Given the description of an element on the screen output the (x, y) to click on. 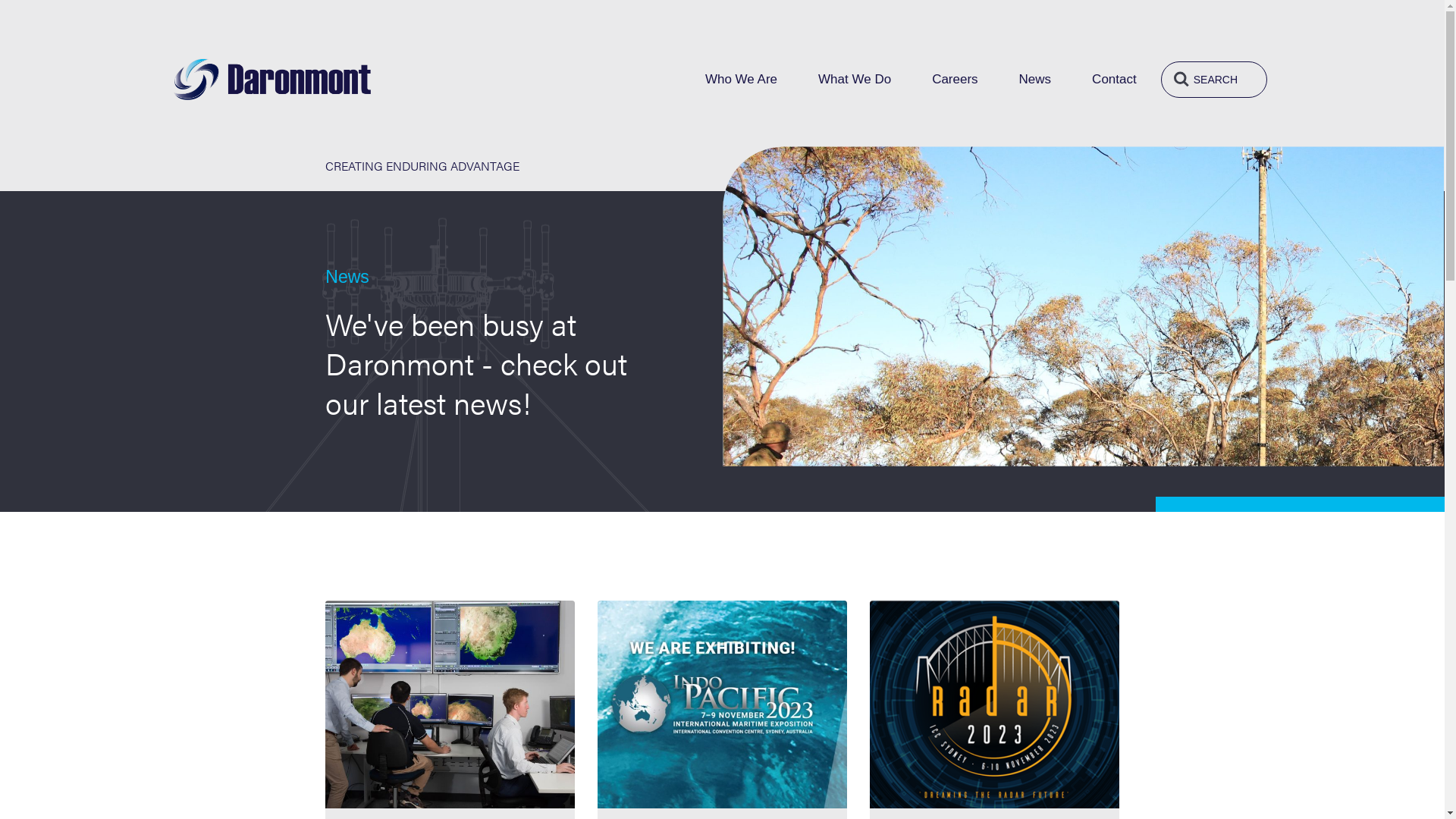
News Element type: text (1035, 79)
What We Do Element type: text (854, 79)
Careers Element type: text (954, 79)
Who We Are Element type: text (740, 79)
Contact Element type: text (1114, 79)
